Given the description of an element on the screen output the (x, y) to click on. 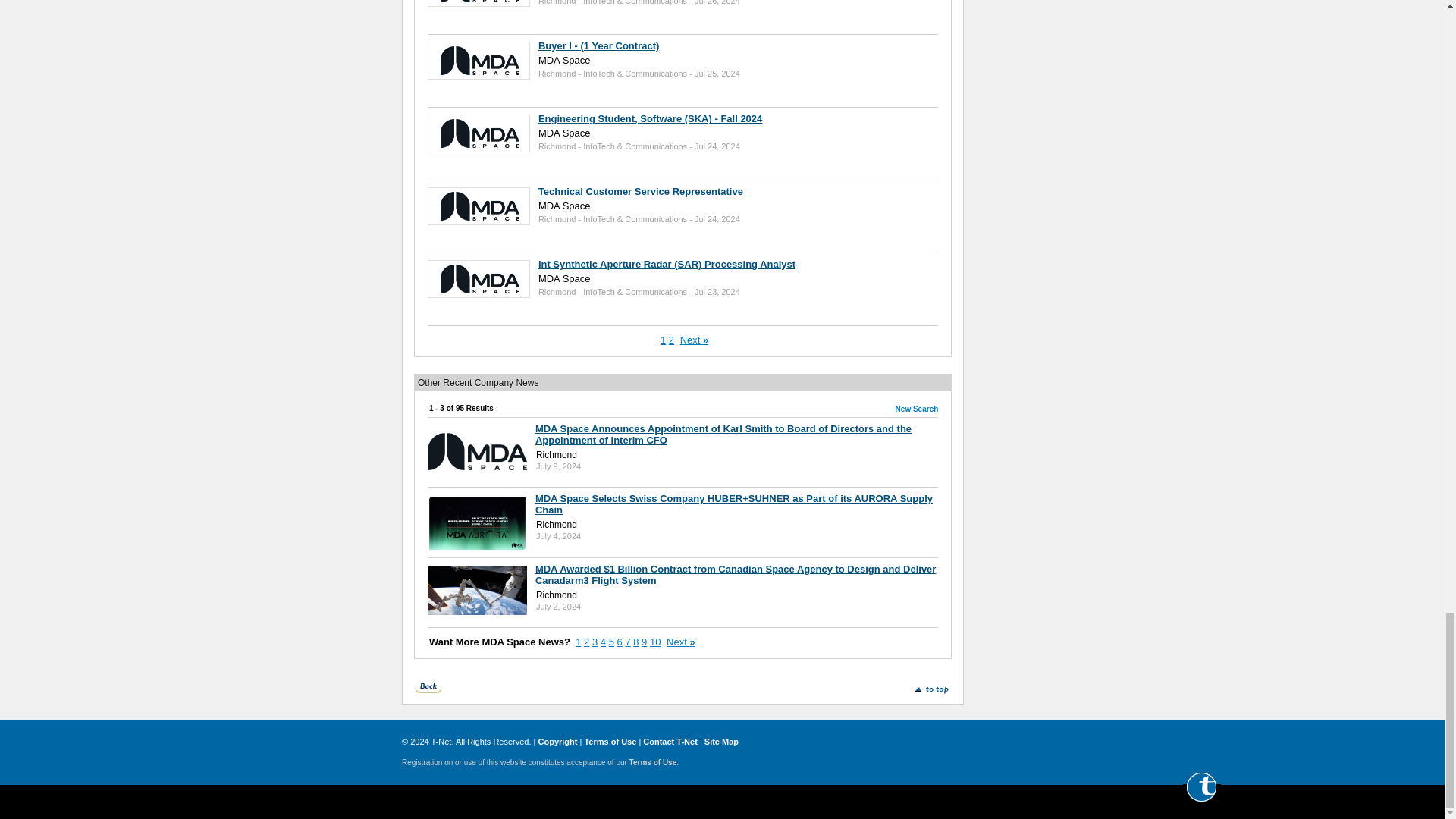
Technical Customer Service Representative at MDA Space (480, 204)
Technical Customer Service Representative at MDA Space (640, 191)
